Given the description of an element on the screen output the (x, y) to click on. 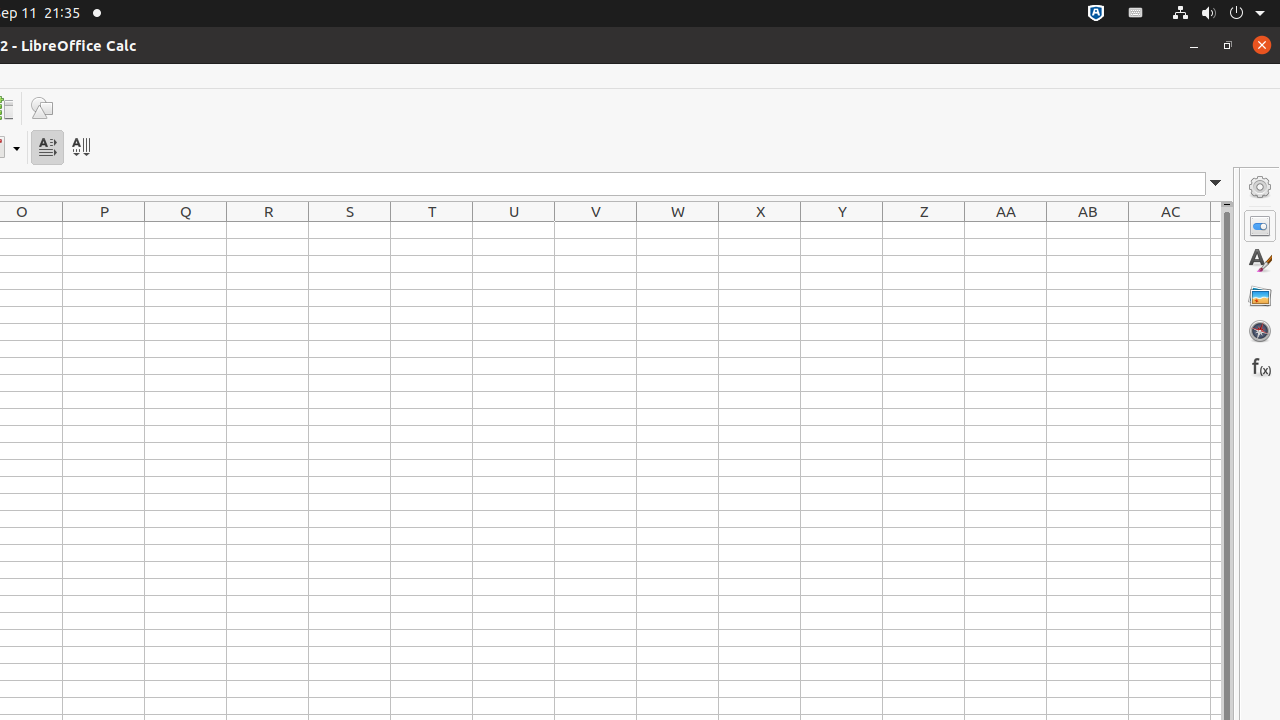
Properties Element type: radio-button (1260, 226)
R1 Element type: table-cell (268, 230)
Functions Element type: radio-button (1260, 366)
Expand Formula Bar Element type: push-button (1216, 183)
